Given the description of an element on the screen output the (x, y) to click on. 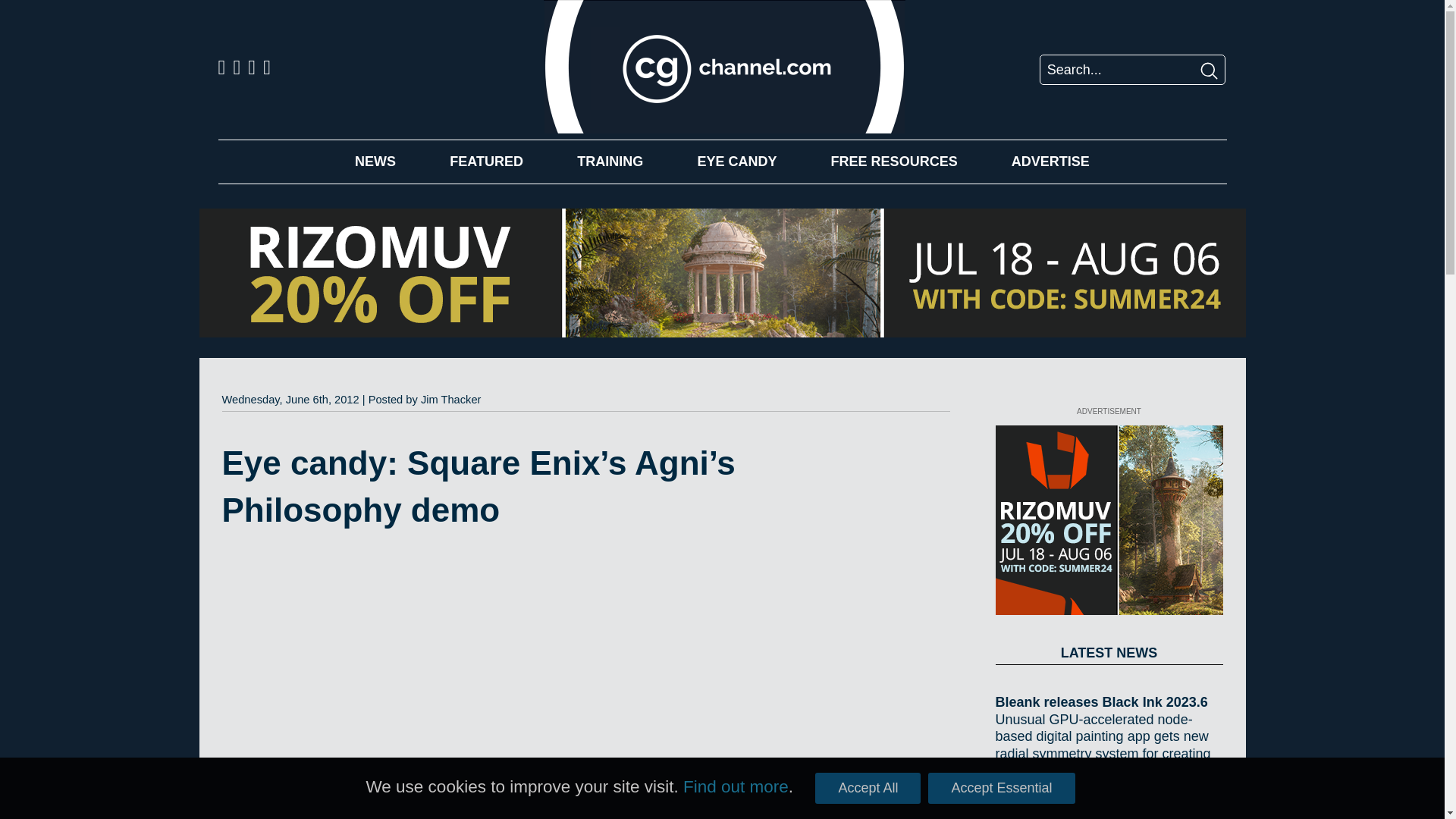
LATEST NEWS (1108, 653)
TRAINING (609, 160)
FEATURED (485, 160)
EYE CANDY (736, 160)
ADVERTISE (1050, 160)
Bleank releases Black Ink 2023.6 (1108, 702)
E3 (729, 776)
FREE RESOURCES (894, 160)
NEWS (375, 160)
